Given the description of an element on the screen output the (x, y) to click on. 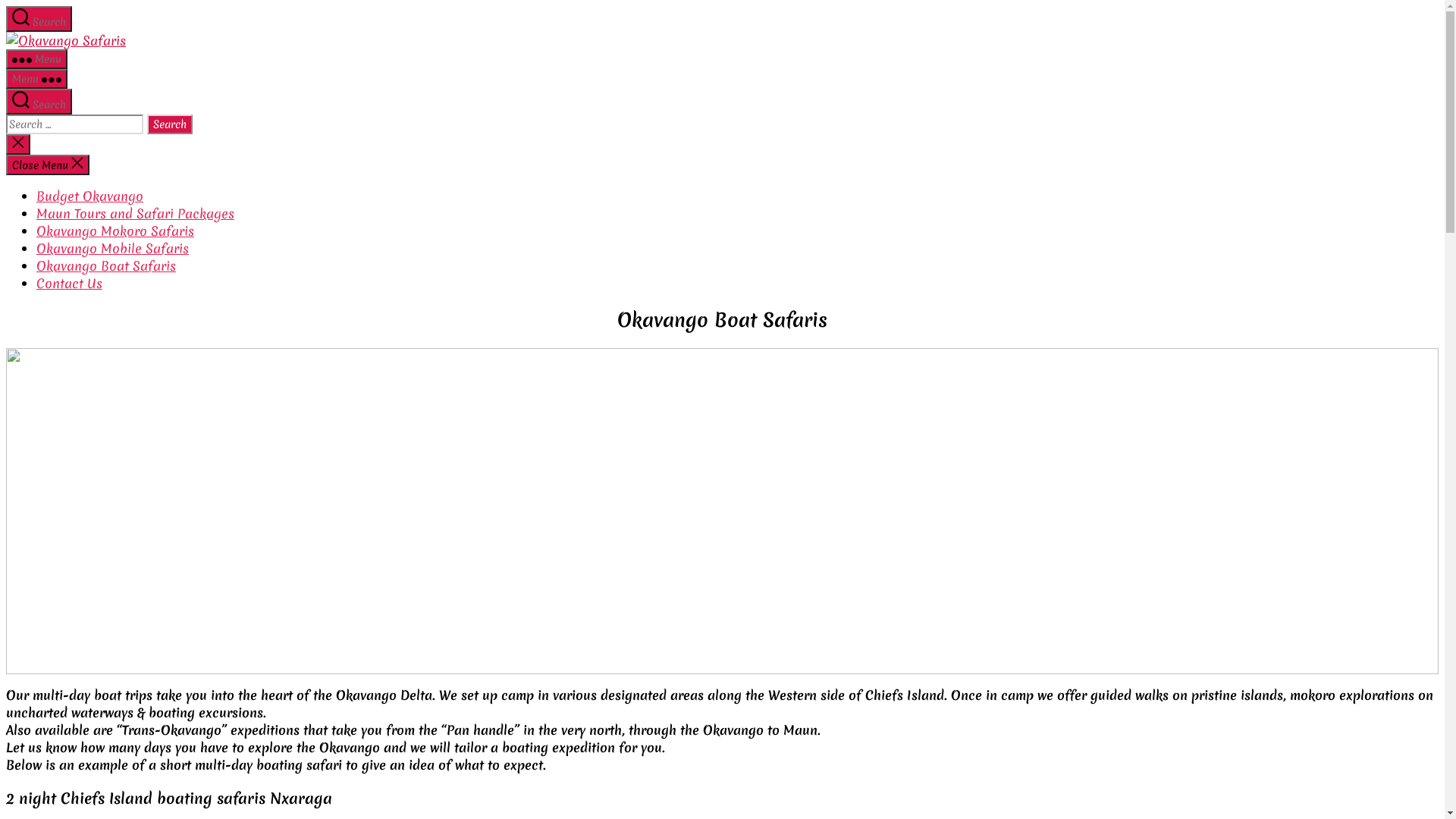
Search Element type: text (169, 124)
Okavango Mobile Safaris Element type: text (112, 248)
Search Element type: text (39, 101)
Close Menu Element type: text (47, 164)
Budget Okavango Element type: text (89, 195)
Menu Element type: text (36, 59)
Maun Tours and Safari Packages Element type: text (135, 213)
Close search Element type: text (18, 144)
Menu Element type: text (36, 78)
Skip to the content Element type: text (5, 5)
Search Element type: text (39, 18)
Okavango Boat Safaris Element type: text (105, 265)
Okavango Mokoro Safaris Element type: text (115, 230)
Contact Us Element type: text (69, 282)
